Given the description of an element on the screen output the (x, y) to click on. 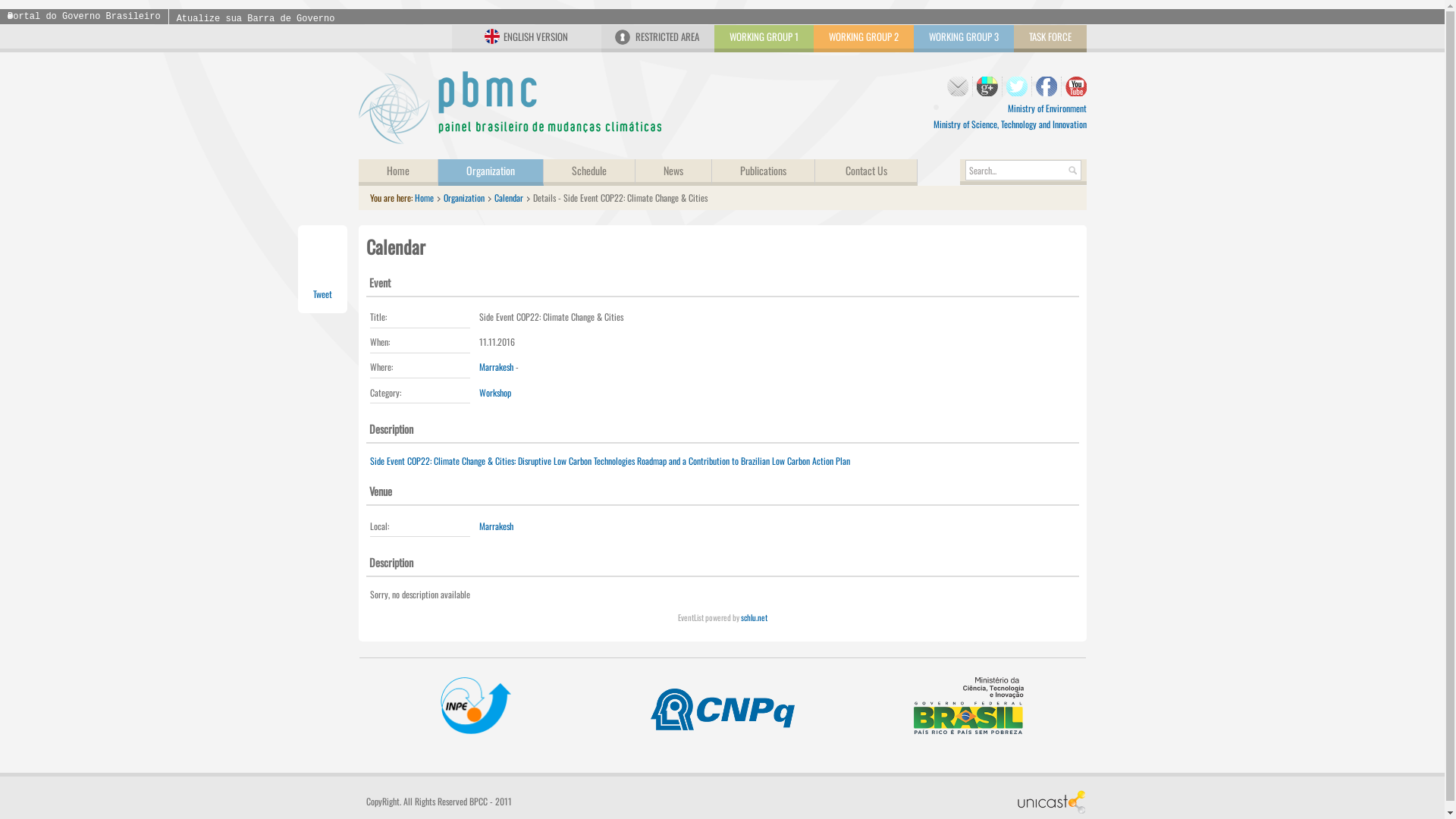
WORKING GROUP 3 Element type: text (963, 38)
Twitter Element type: text (1015, 86)
Schedule Element type: text (588, 172)
Workshop Element type: text (495, 391)
Atualize sua Barra de Governo Element type: text (255, 18)
Home Element type: text (423, 197)
WORKING GROUP 1 Element type: text (763, 38)
Webmail PBMC Element type: text (956, 86)
Facebook Element type: text (1046, 86)
Marrakesh Element type: text (496, 366)
schlu.net Element type: text (753, 617)
WORKING GROUP 2 Element type: text (862, 38)
Youtube Element type: text (1074, 86)
RESTRICTED AREA Element type: text (656, 38)
Contact Us Element type: text (865, 172)
Marrakesh Element type: text (496, 525)
News Element type: text (673, 172)
Organization Element type: text (462, 197)
Calendar Element type: text (508, 197)
Ministry of Science, Technology and Innovation Element type: text (1008, 123)
Home Element type: text (397, 172)
Publications Element type: text (762, 172)
Googleplus Element type: text (986, 86)
Ministry of Environment Element type: text (1046, 107)
Organization Element type: text (490, 172)
Tweet Element type: text (321, 293)
TASK FORCE Element type: text (1049, 38)
Portal do Governo Brasileiro Element type: text (83, 16)
